Given the description of an element on the screen output the (x, y) to click on. 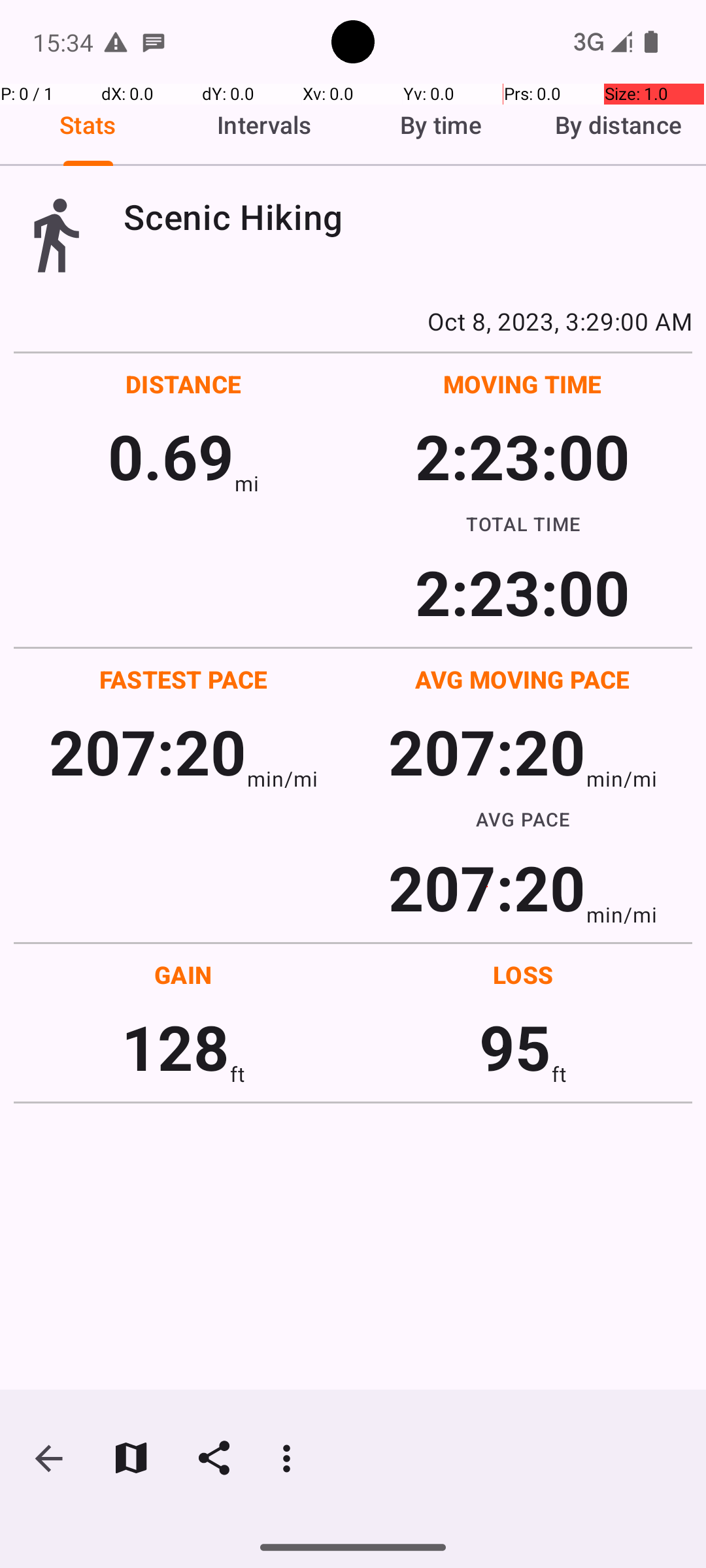
Scenic Hiking Element type: android.widget.TextView (407, 216)
Oct 8, 2023, 3:29:00 AM Element type: android.widget.TextView (352, 320)
0.69 Element type: android.widget.TextView (170, 455)
2:23:00 Element type: android.widget.TextView (522, 455)
FASTEST PACE Element type: android.widget.TextView (183, 678)
AVG MOVING PACE Element type: android.widget.TextView (522, 678)
207:20 Element type: android.widget.TextView (147, 750)
min/mi Element type: android.widget.TextView (282, 778)
AVG PACE Element type: android.widget.TextView (522, 818)
128 Element type: android.widget.TextView (175, 1045)
95 Element type: android.widget.TextView (515, 1045)
